Given the description of an element on the screen output the (x, y) to click on. 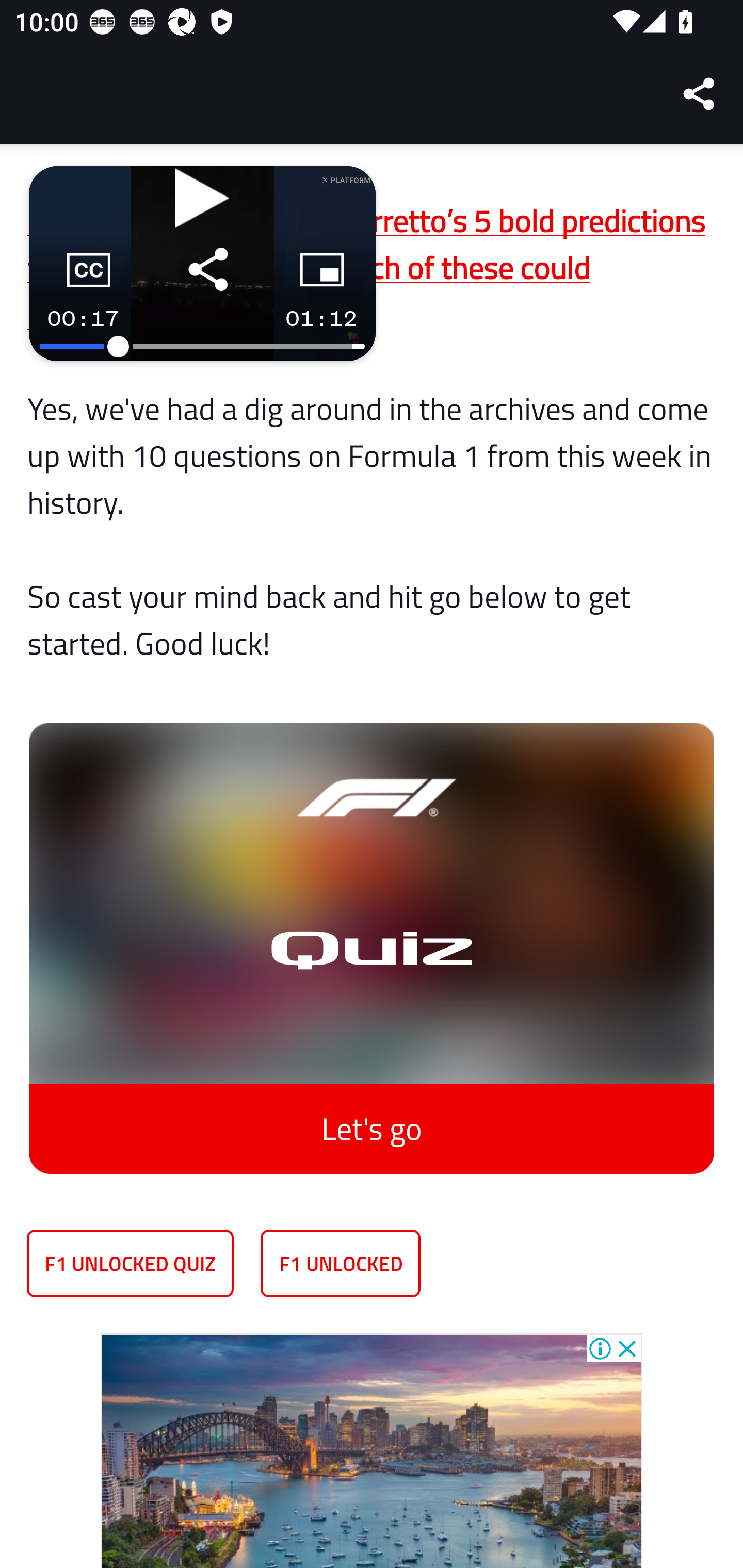
Share (699, 93)
Quiz Let's go (371, 933)
F1 UNLOCKED F1 Unlocked. Double tap to activate (340, 1262)
siv-fund (371, 1450)
